Given the description of an element on the screen output the (x, y) to click on. 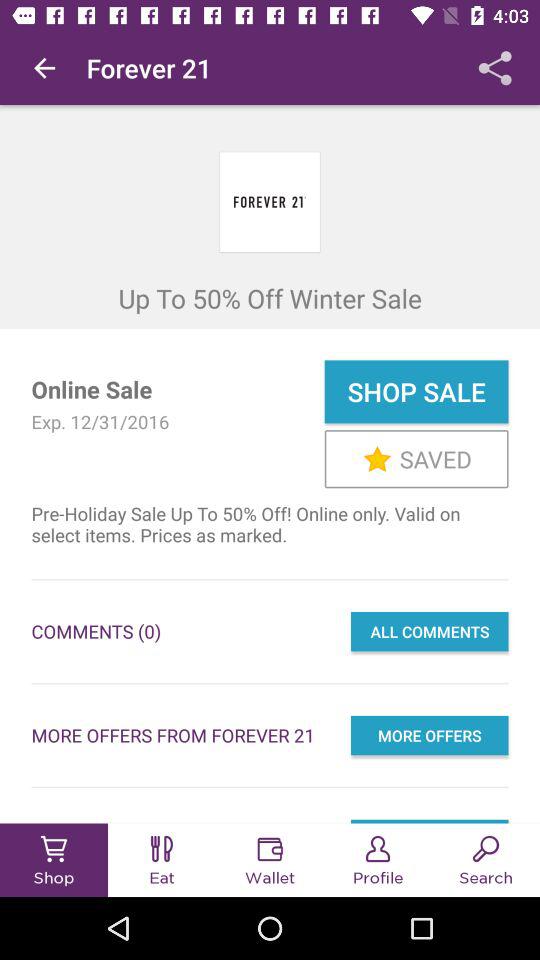
jump to shop sale item (416, 391)
